Given the description of an element on the screen output the (x, y) to click on. 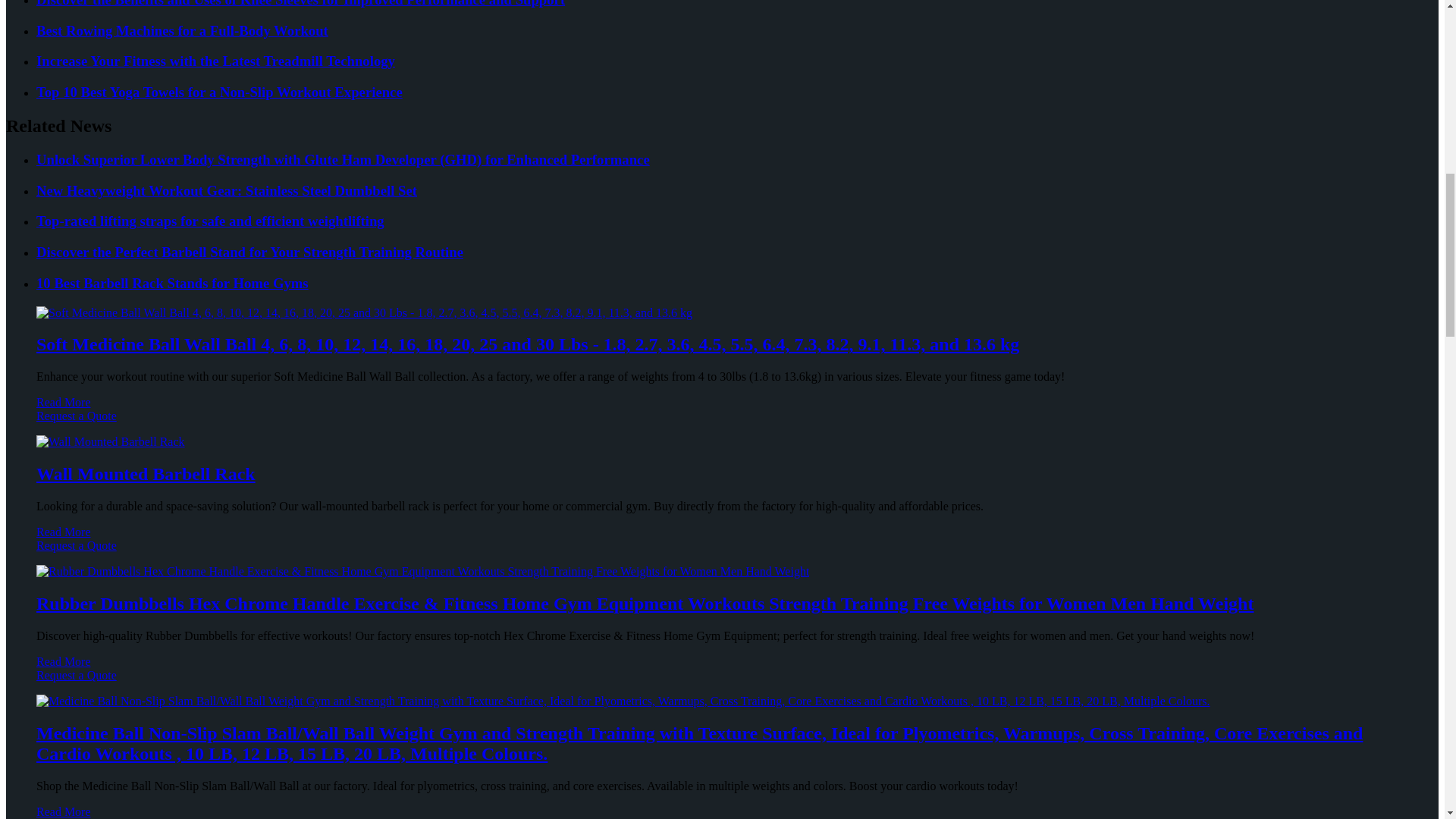
Request a Quote (721, 422)
Read More (63, 401)
